Given the description of an element on the screen output the (x, y) to click on. 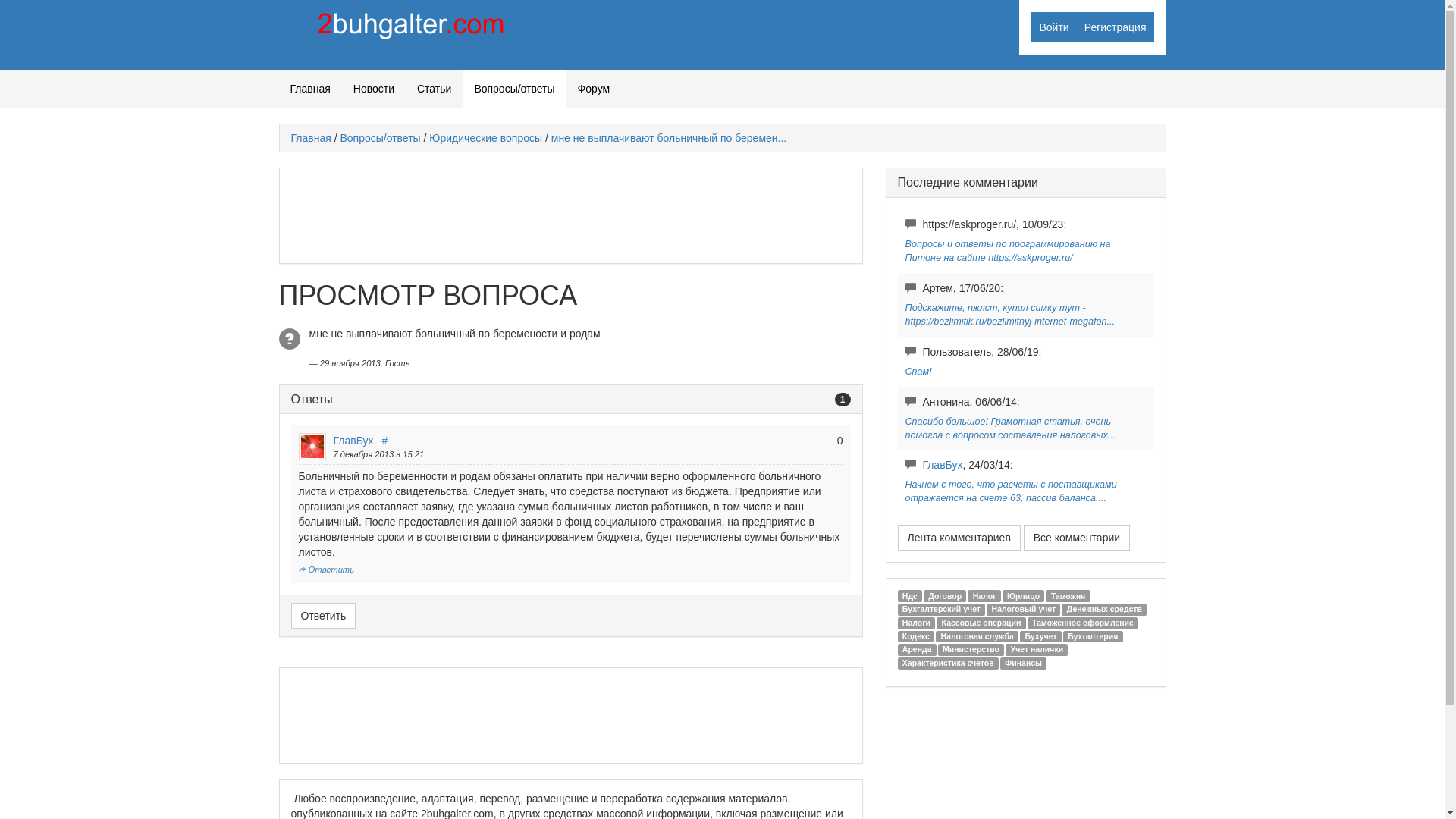
Advertisement Element type: hover (567, 213)
Advertisement Element type: hover (567, 713)
1 Element type: text (842, 399)
# Element type: text (384, 440)
